Given the description of an element on the screen output the (x, y) to click on. 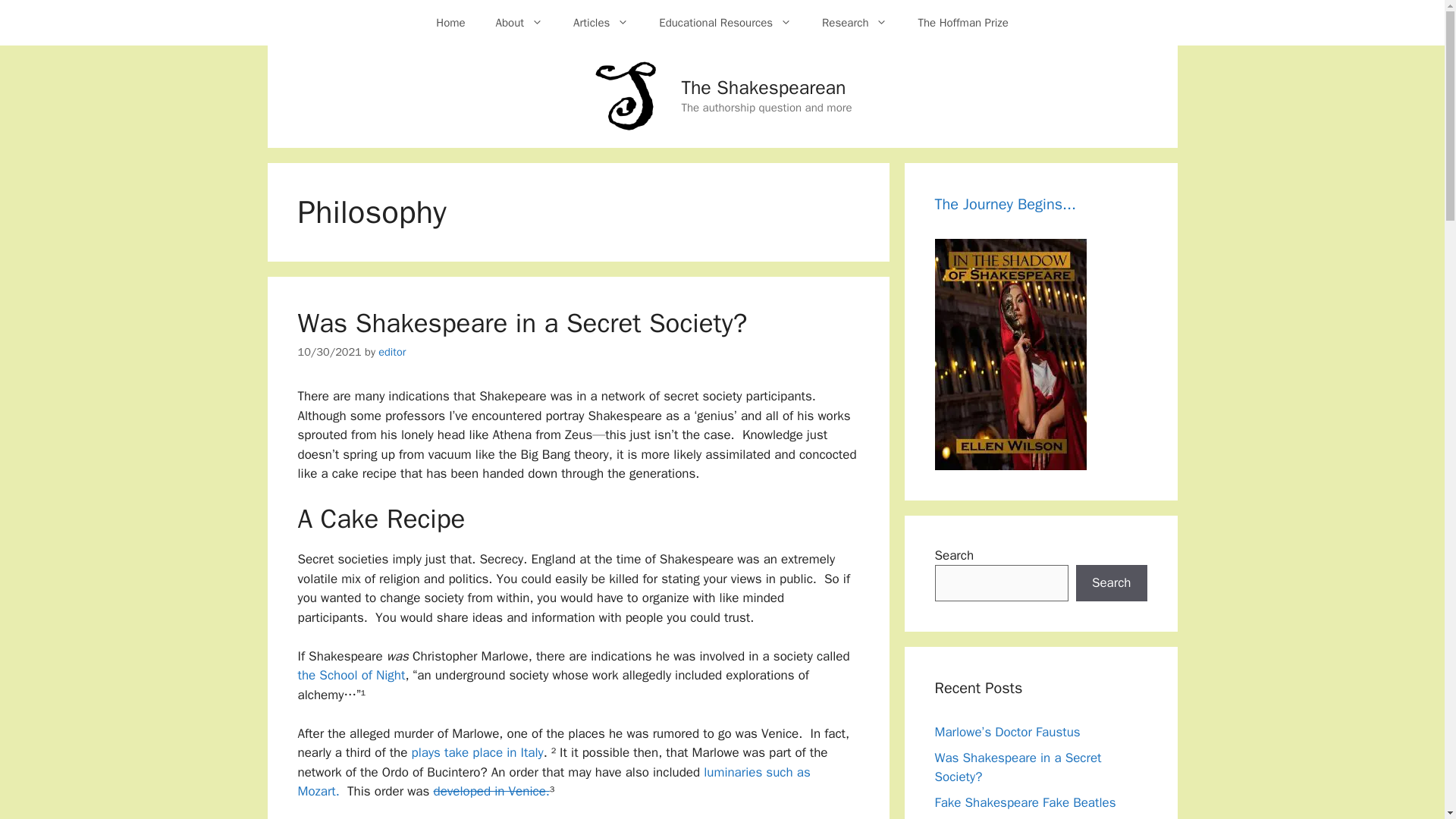
Research (854, 22)
the School of Night (350, 675)
editor (392, 351)
Was Shakespeare in a Secret Society? (521, 322)
developed in Venice. (490, 790)
The Hoffman Prize (962, 22)
Articles (600, 22)
luminaries such as Mozart. (553, 782)
Educational Resources (724, 22)
View all posts by editor (392, 351)
